Given the description of an element on the screen output the (x, y) to click on. 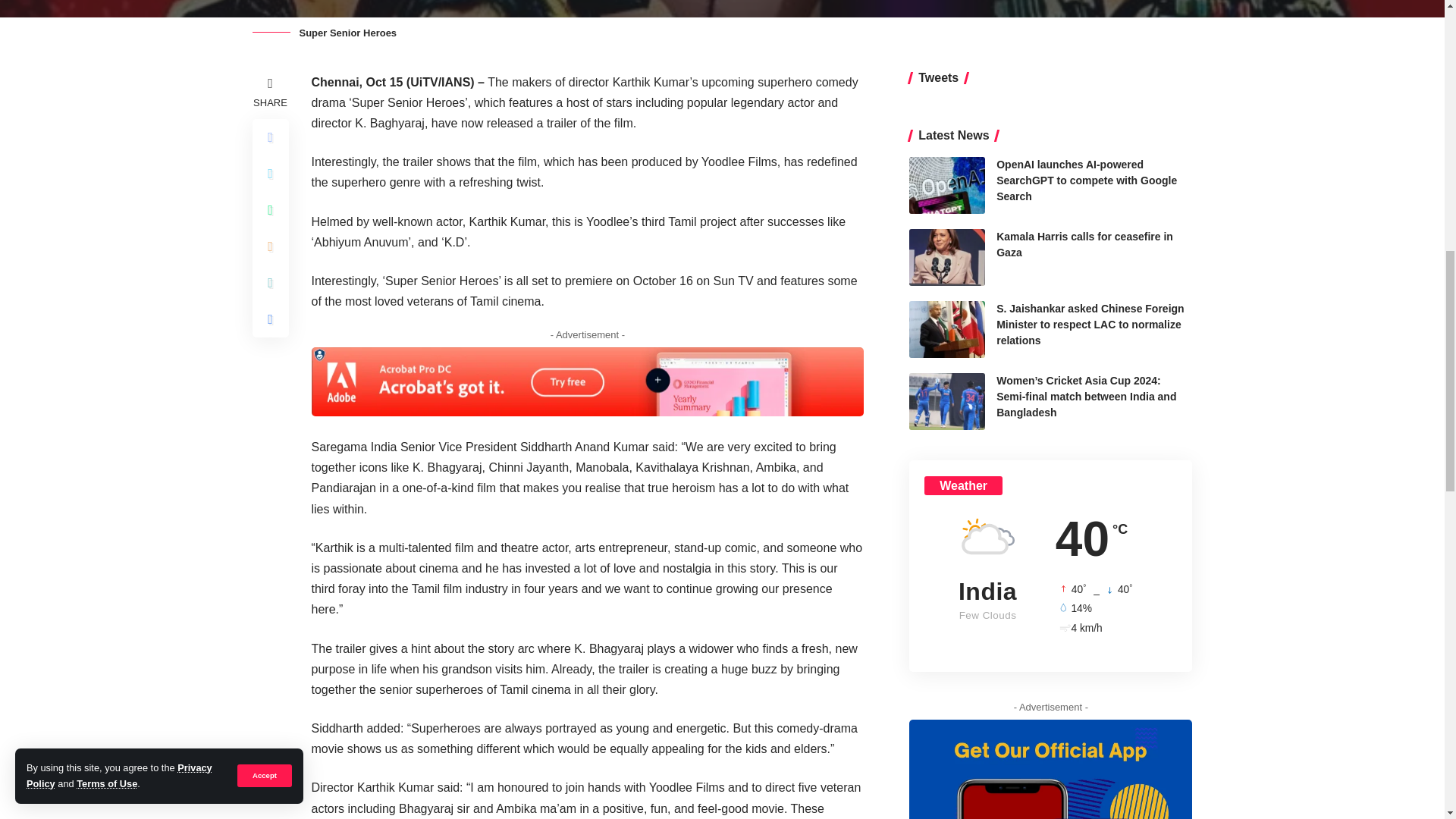
Kamala Harris calls for ceasefire in Gaza (946, 257)
